Given the description of an element on the screen output the (x, y) to click on. 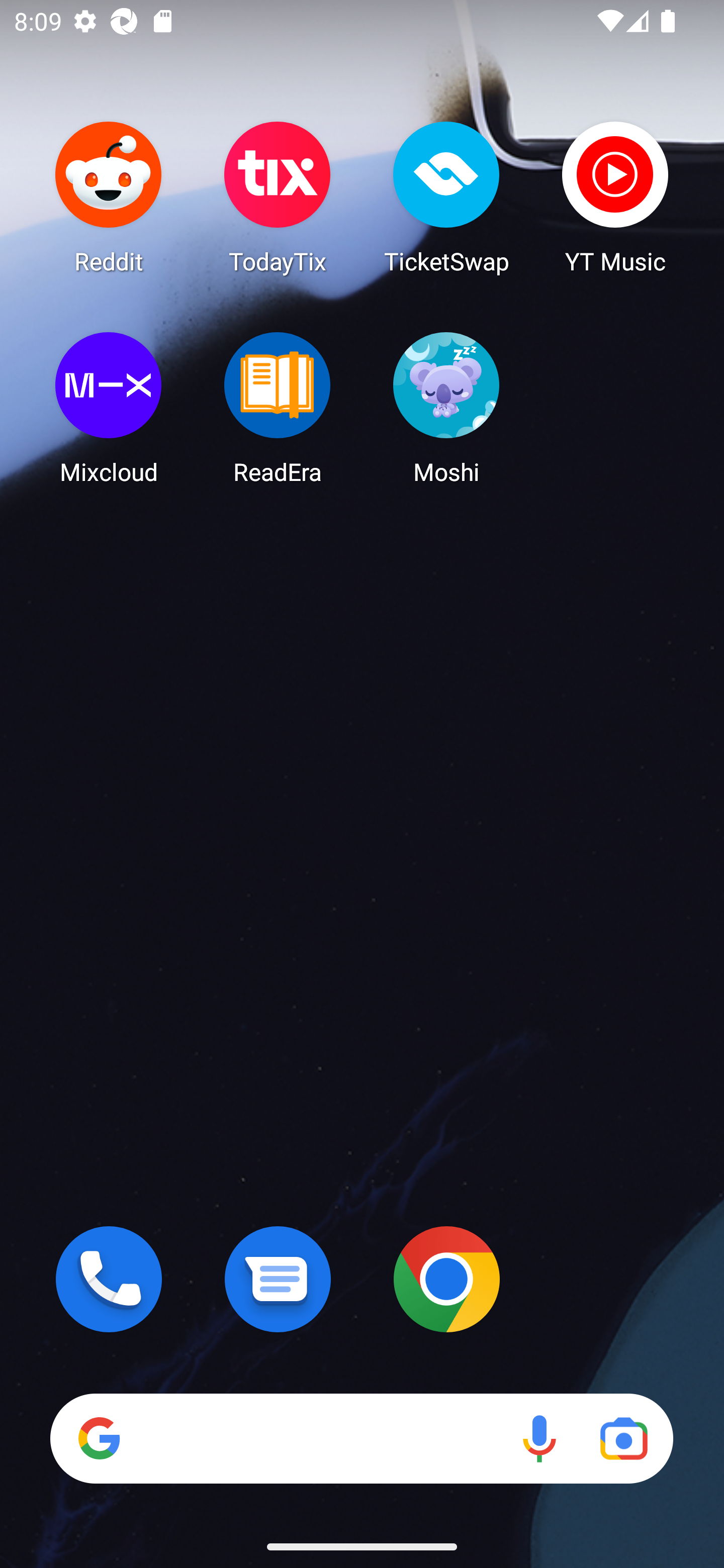
Reddit (108, 196)
TodayTix (277, 196)
TicketSwap (445, 196)
YT Music (615, 196)
Mixcloud (108, 407)
ReadEra (277, 407)
Moshi (445, 407)
Phone (108, 1279)
Messages (277, 1279)
Chrome (446, 1279)
Voice search (539, 1438)
Google Lens (623, 1438)
